Given the description of an element on the screen output the (x, y) to click on. 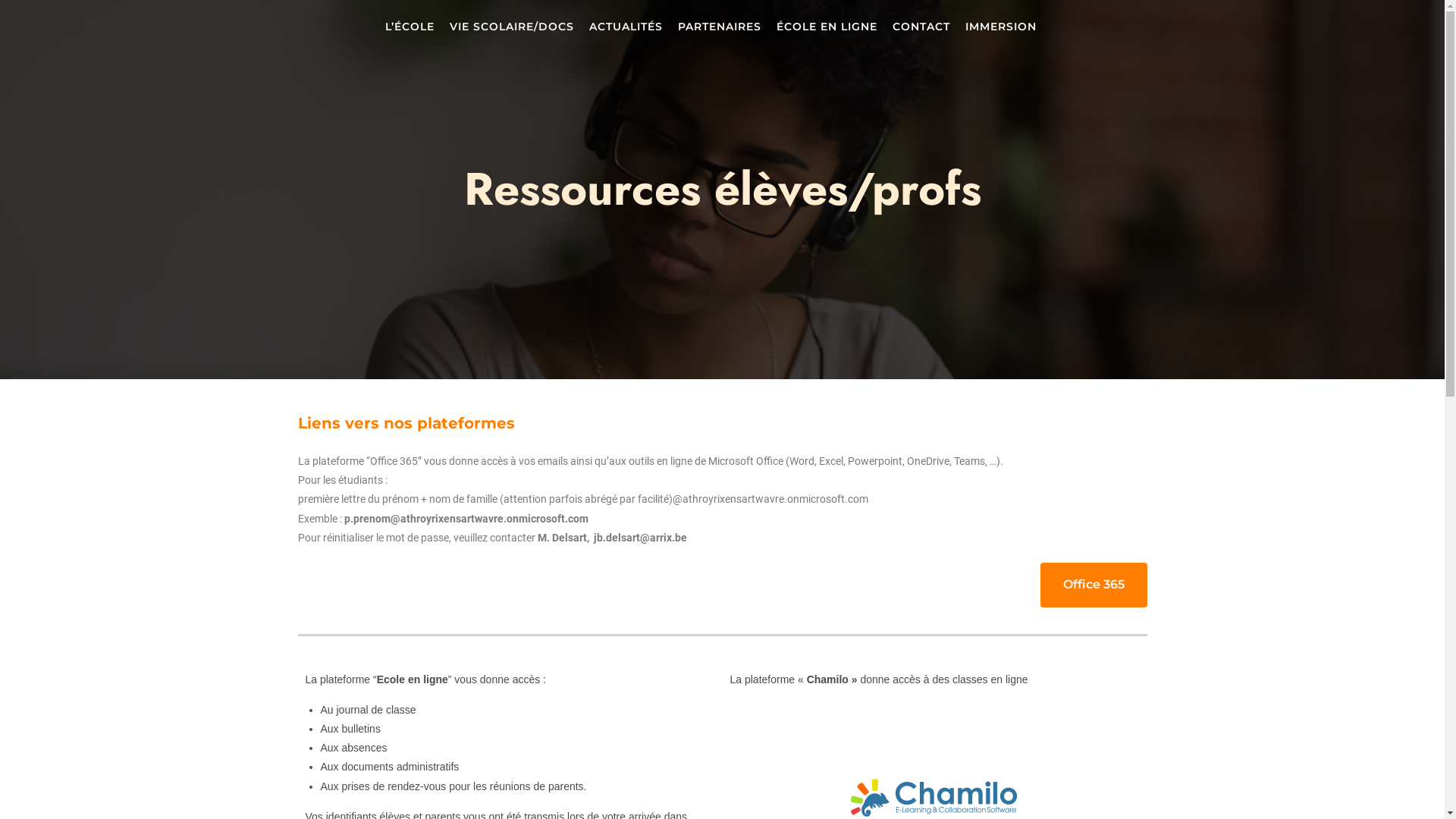
CONTACT Element type: text (920, 26)
PARTENAIRES Element type: text (719, 26)
IMMERSION Element type: text (1000, 26)
Office 365 Element type: text (1093, 584)
VIE SCOLAIRE/DOCS Element type: text (511, 26)
